Given the description of an element on the screen output the (x, y) to click on. 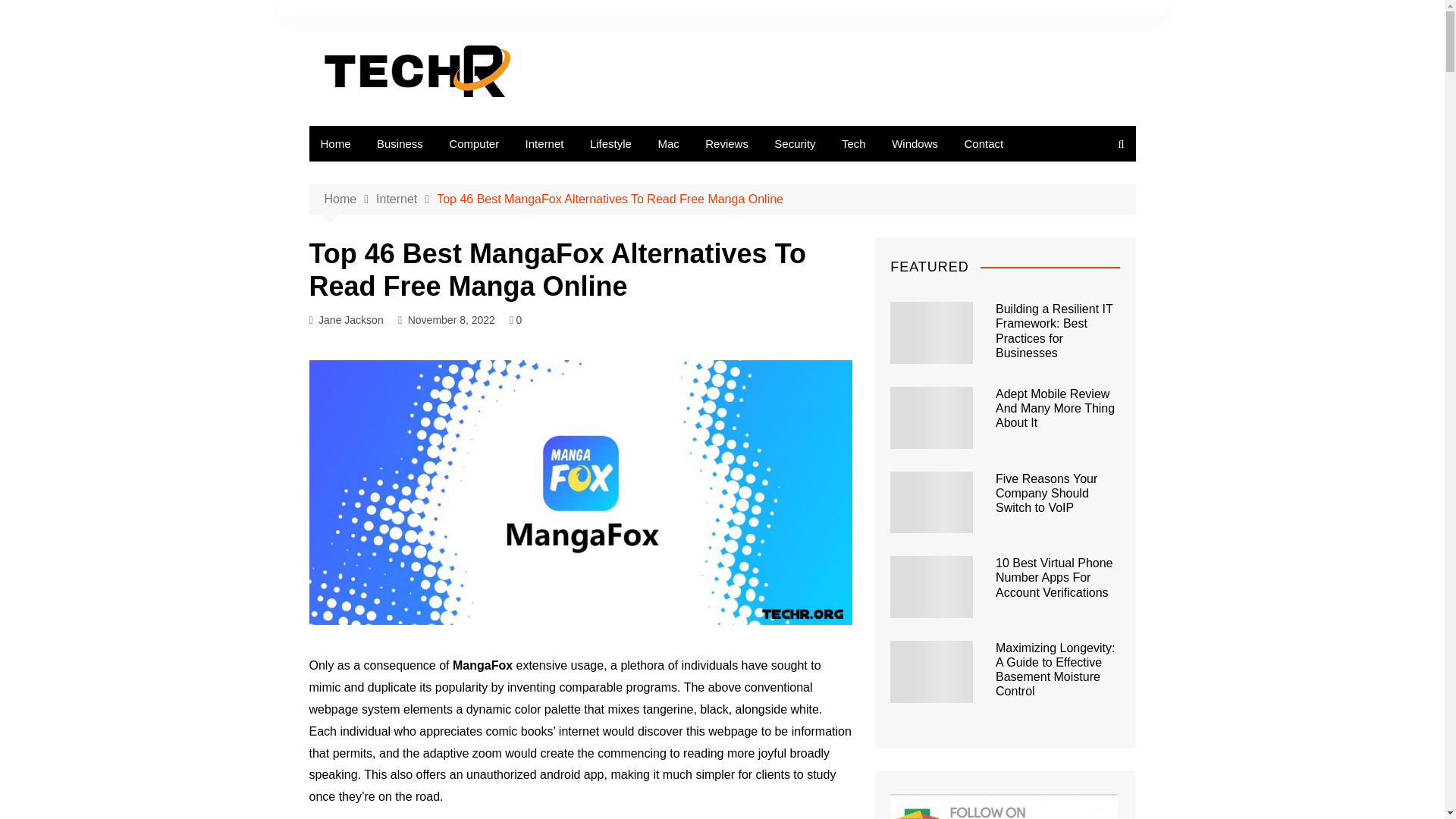
Home (335, 143)
Internet (544, 143)
Reviews (727, 143)
Windows (914, 143)
Home (350, 199)
November 8, 2022 (451, 320)
Tech (853, 143)
Contact (983, 143)
Security (794, 143)
Jane Jackson (351, 320)
